Given the description of an element on the screen output the (x, y) to click on. 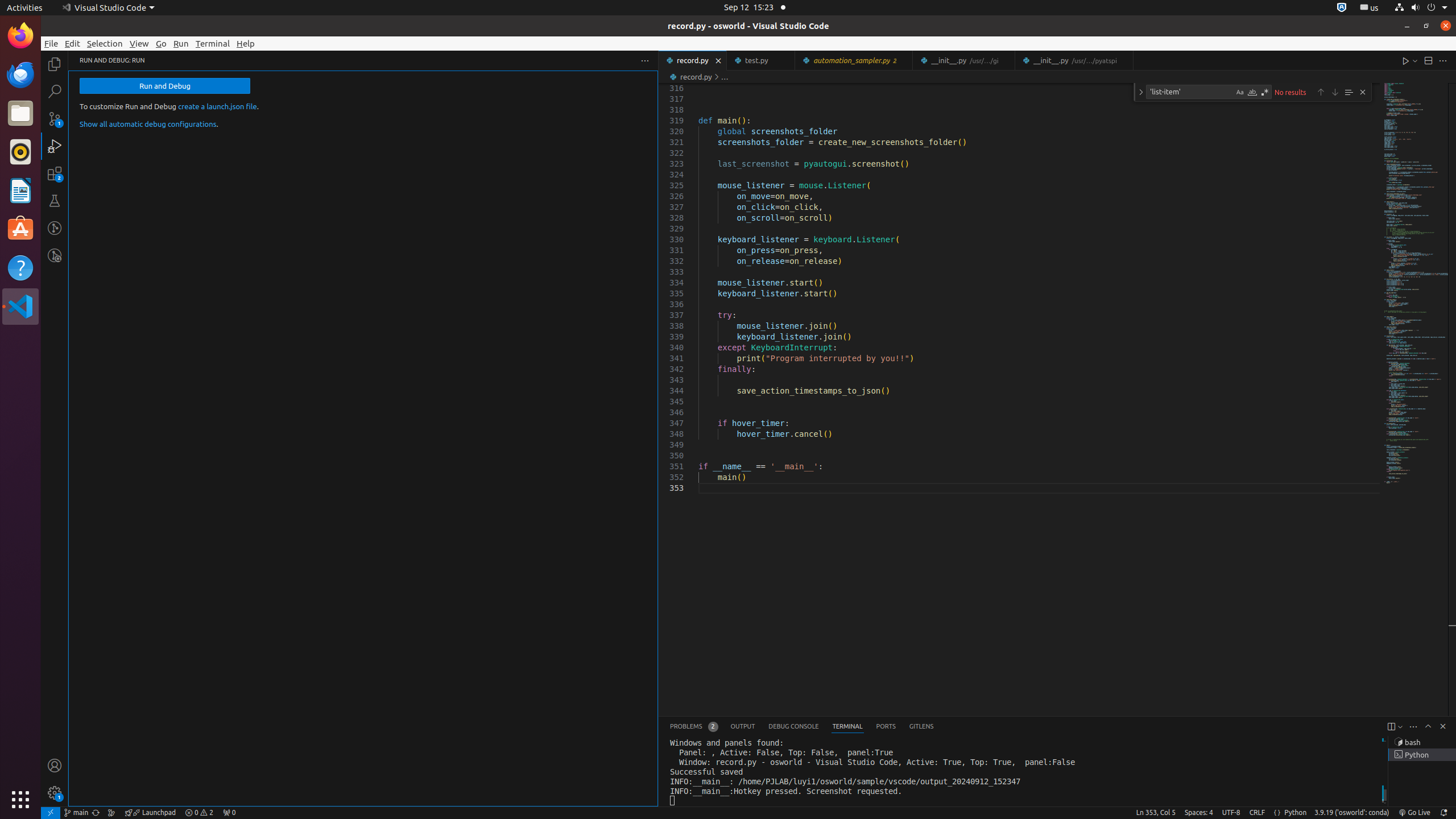
create a launch.json file Element type: push-button (217, 106)
GitLens Inspect Element type: page-tab (54, 255)
broadcast Go Live, Click to run live server Element type: push-button (1414, 812)
Run Element type: push-button (181, 43)
